Given the description of an element on the screen output the (x, y) to click on. 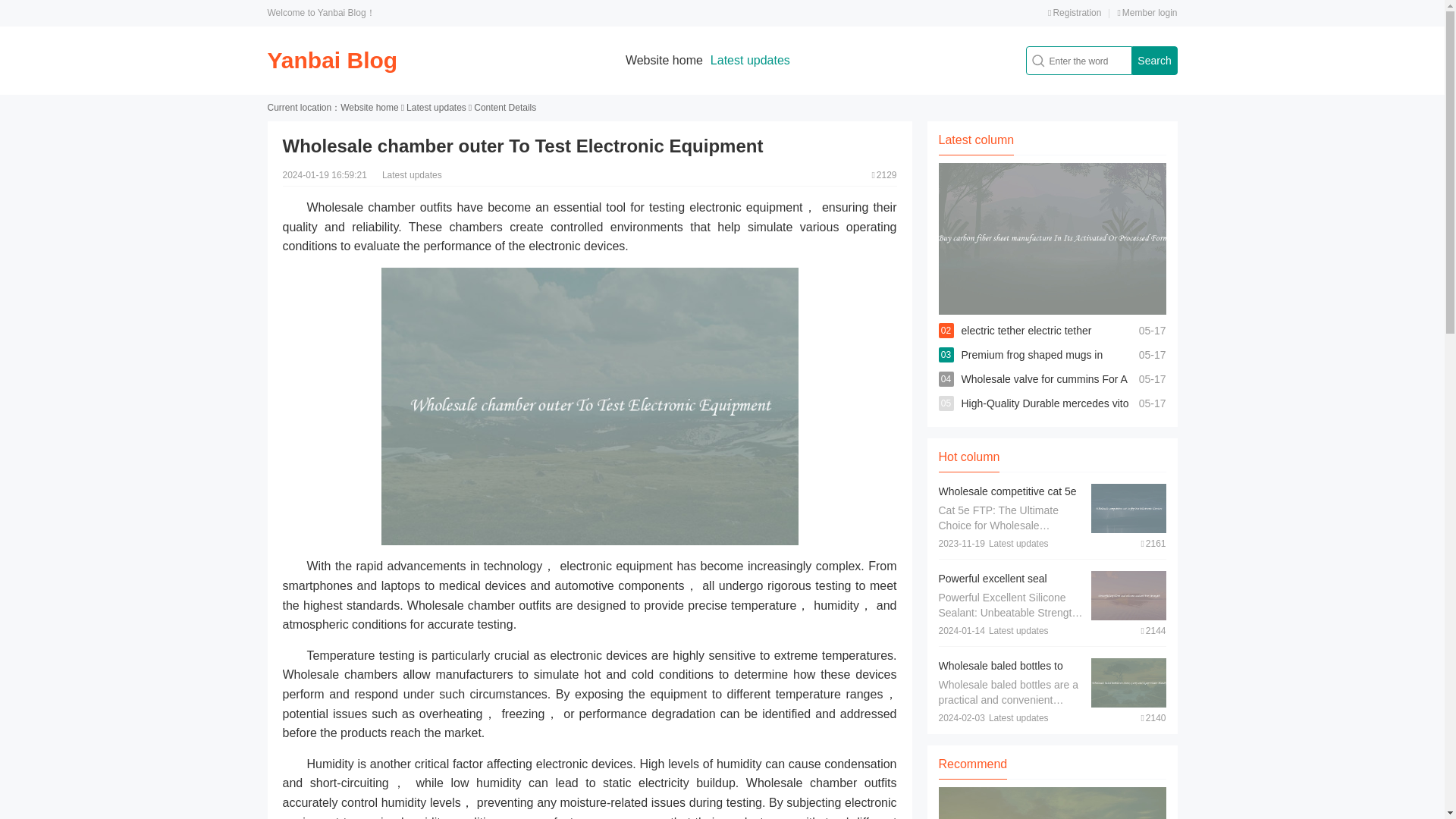
Latest updates (750, 60)
Search (1153, 60)
Wholesale baled bottles to Store, Carry and Keep Water Handy (1007, 680)
Wholesale competitive cat 5e ftp For Electronic Devices (1008, 498)
Website home (664, 60)
electric tether electric tether Suppliers and Manufacturers (1028, 342)
Powerful excellent seal silicone sealant For Strength (1006, 585)
Member login (1146, 12)
Premium frog shaped mugs in Unique and Trendy Designs (1031, 366)
Yanbai Blog (331, 59)
Website home (368, 107)
Wholesale valve for cummins For A Simple Repair Solution (1043, 391)
Latest updates (435, 107)
Registration (1074, 12)
